Given the description of an element on the screen output the (x, y) to click on. 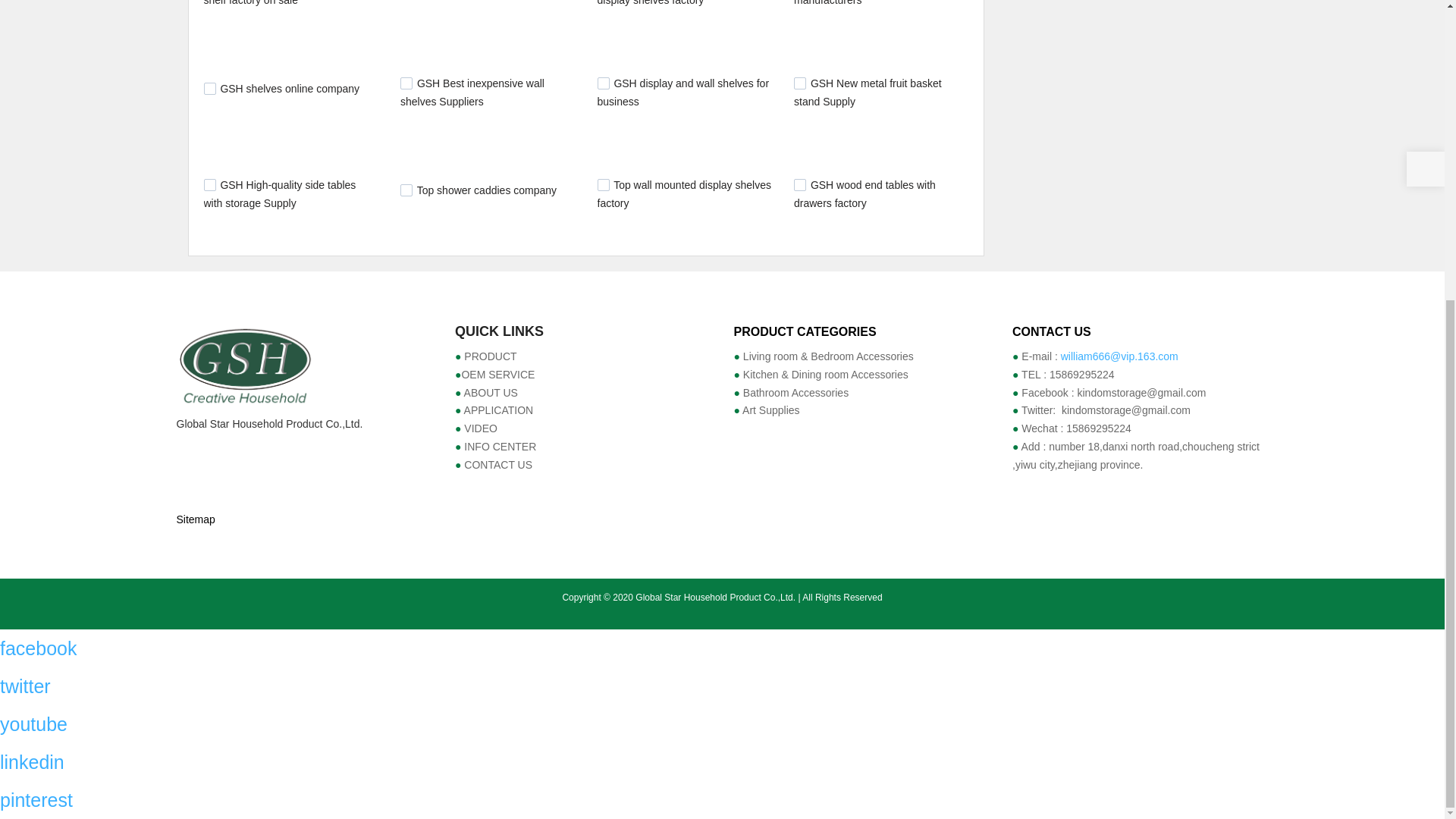
11441 (603, 82)
GSH Best inexpensive wall shelves Suppliers (472, 91)
Top wall mounted display shelves factory (683, 194)
GSH shelves online company (289, 88)
10789 (406, 190)
11446 (406, 82)
GSH wood end tables with drawers factory (864, 194)
GSH High-quality horizontal wall shelf factory on sale (287, 2)
GSH display and wall shelves for business (683, 91)
10344 (799, 184)
11397 (209, 184)
GSH Latest long wall shelf manufacturers (863, 2)
11429 (799, 82)
11507 (209, 88)
GSH New metal fruit basket stand Supply (867, 91)
